Given the description of an element on the screen output the (x, y) to click on. 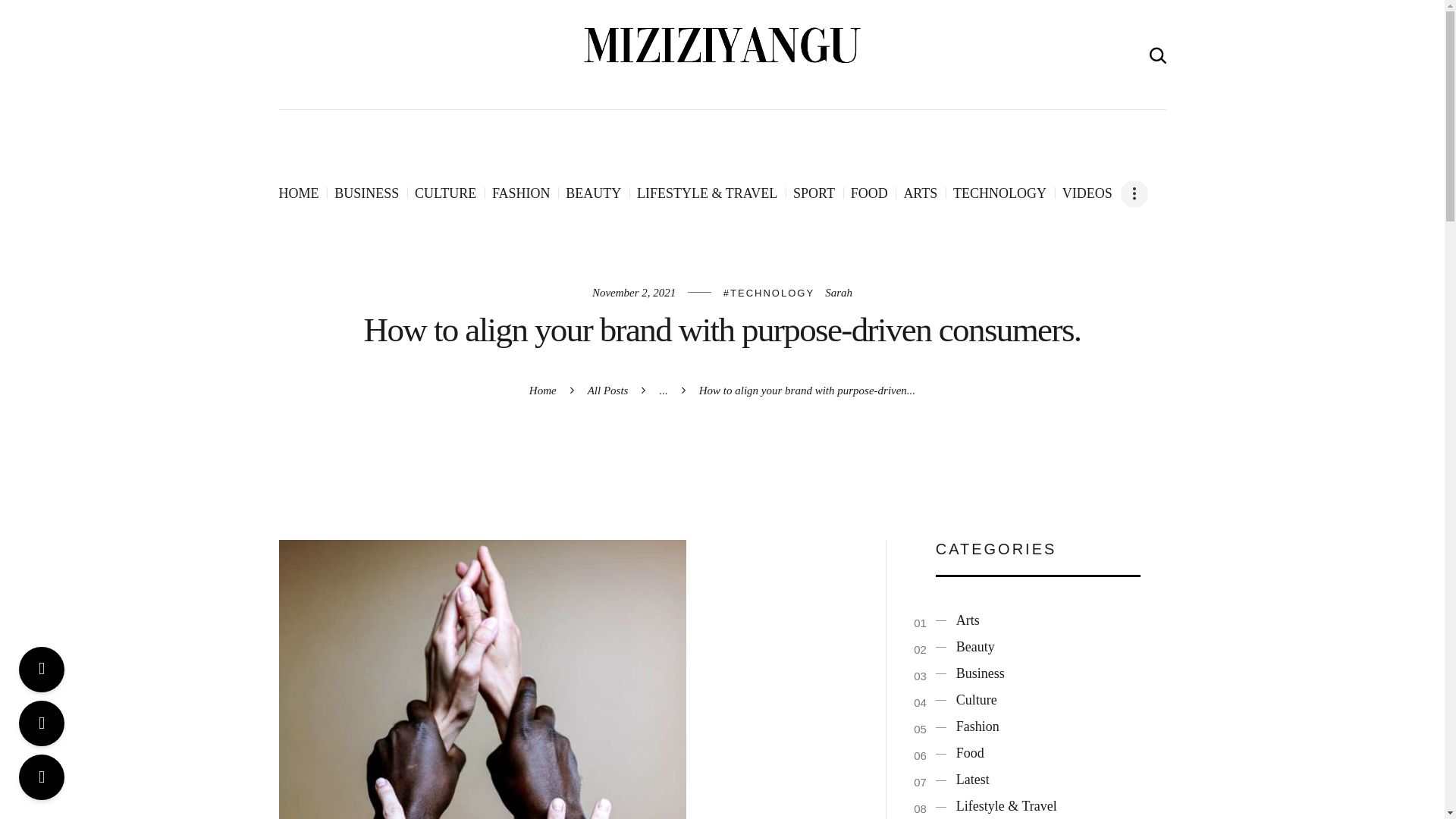
Sarah (838, 292)
BUSINESS (366, 193)
All Posts (608, 390)
Tiktok (41, 777)
FASHION (521, 193)
Youtube (41, 668)
Instagram (41, 723)
SPORT (813, 193)
BEAUTY (593, 193)
TECHNOLOGY (768, 292)
TECHNOLOGY (999, 193)
ARTS (919, 193)
CULTURE (445, 193)
HOME (298, 193)
VIDEOS (1087, 193)
